Given the description of an element on the screen output the (x, y) to click on. 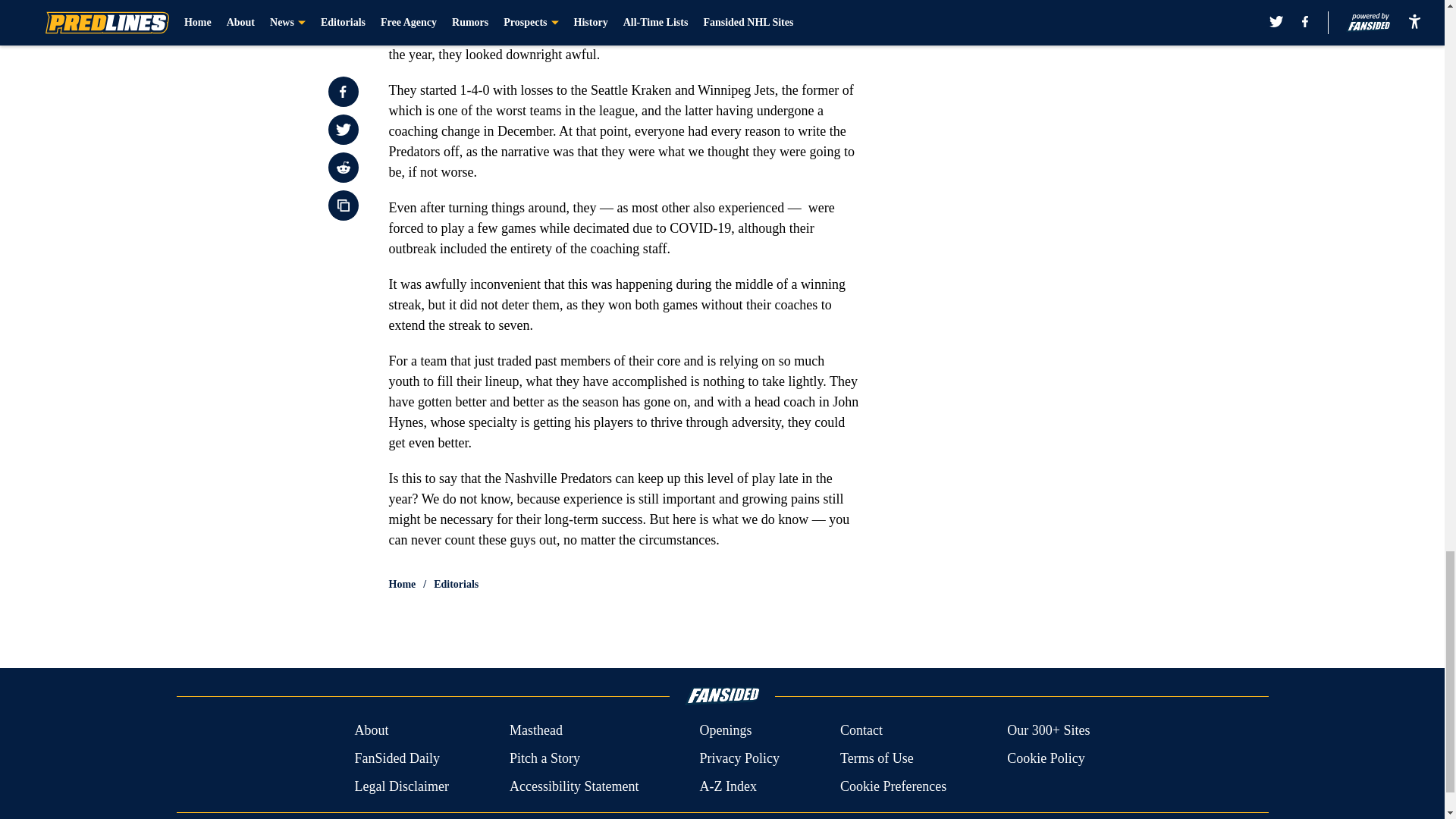
Cookie Policy (1045, 758)
Terms of Use (877, 758)
Contact (861, 730)
FanSided Daily (396, 758)
Pitch a Story (544, 758)
Editorials (456, 584)
Openings (724, 730)
Privacy Policy (738, 758)
Masthead (535, 730)
Home (401, 584)
About (370, 730)
Legal Disclaimer (400, 786)
